Given the description of an element on the screen output the (x, y) to click on. 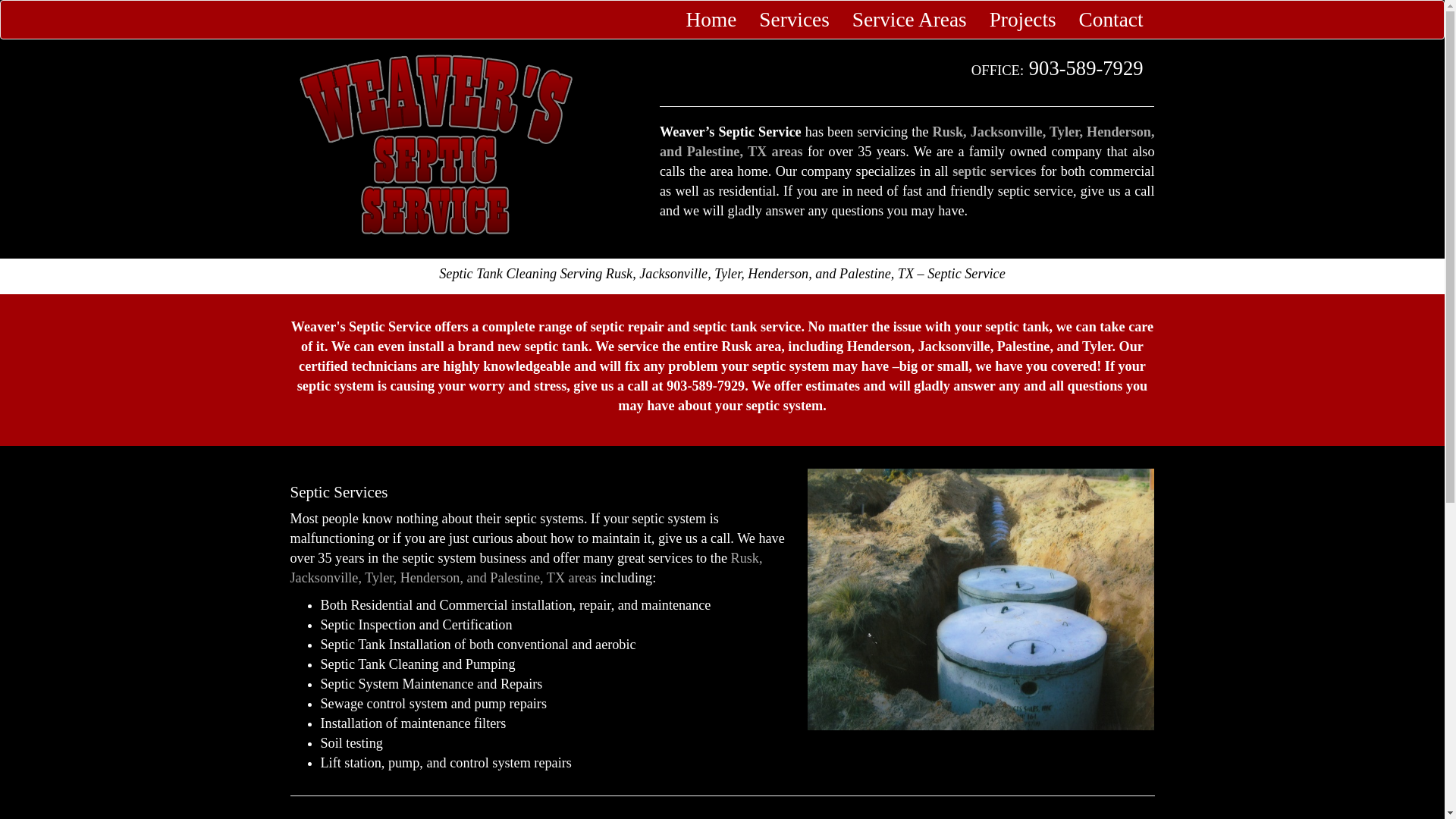
Contact (1110, 19)
Services (794, 19)
Home (711, 19)
Projects (1022, 19)
Service Areas (909, 19)
septic services (994, 171)
